Given the description of an element on the screen output the (x, y) to click on. 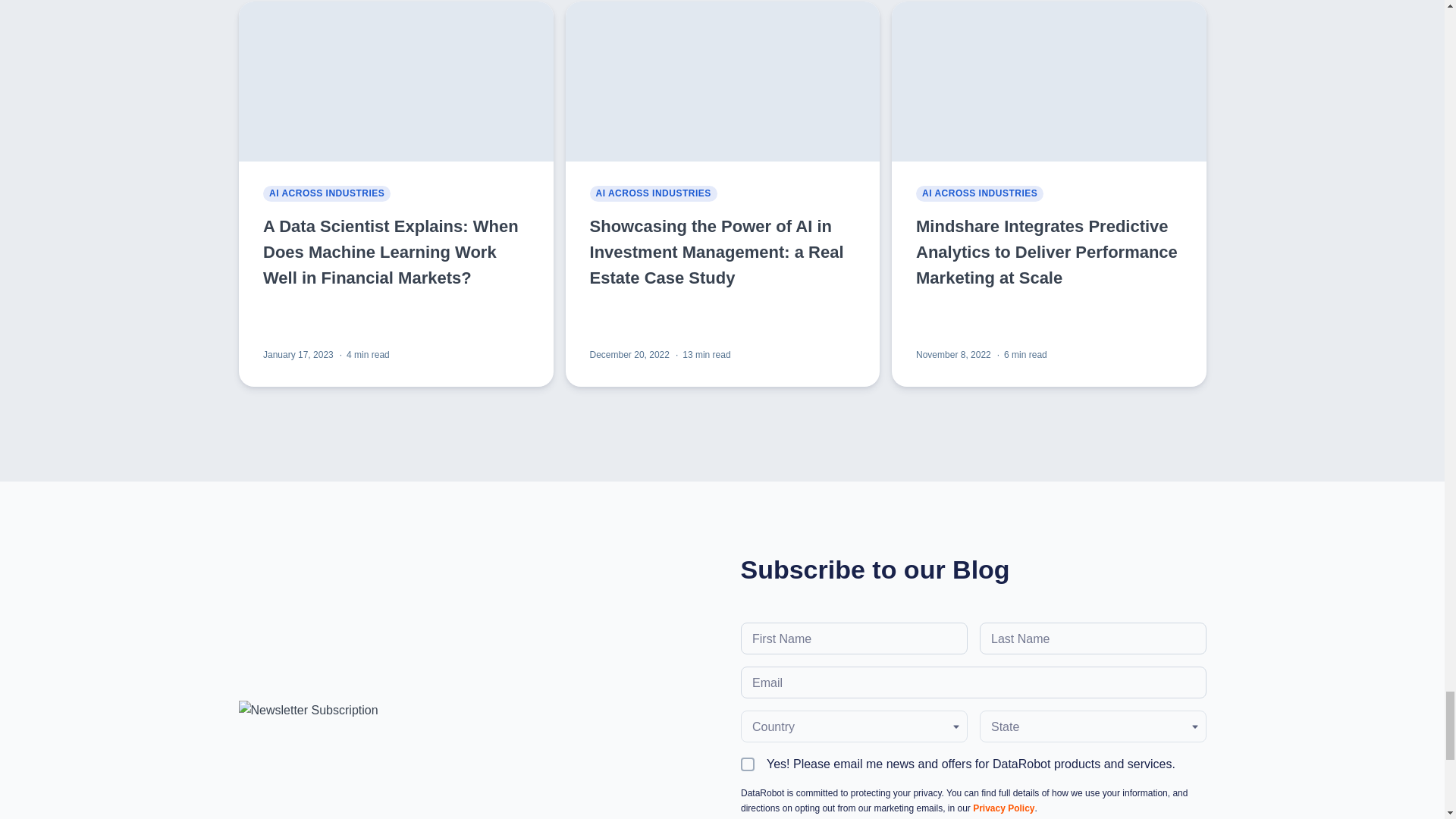
AI Across Industries (326, 194)
